Given the description of an element on the screen output the (x, y) to click on. 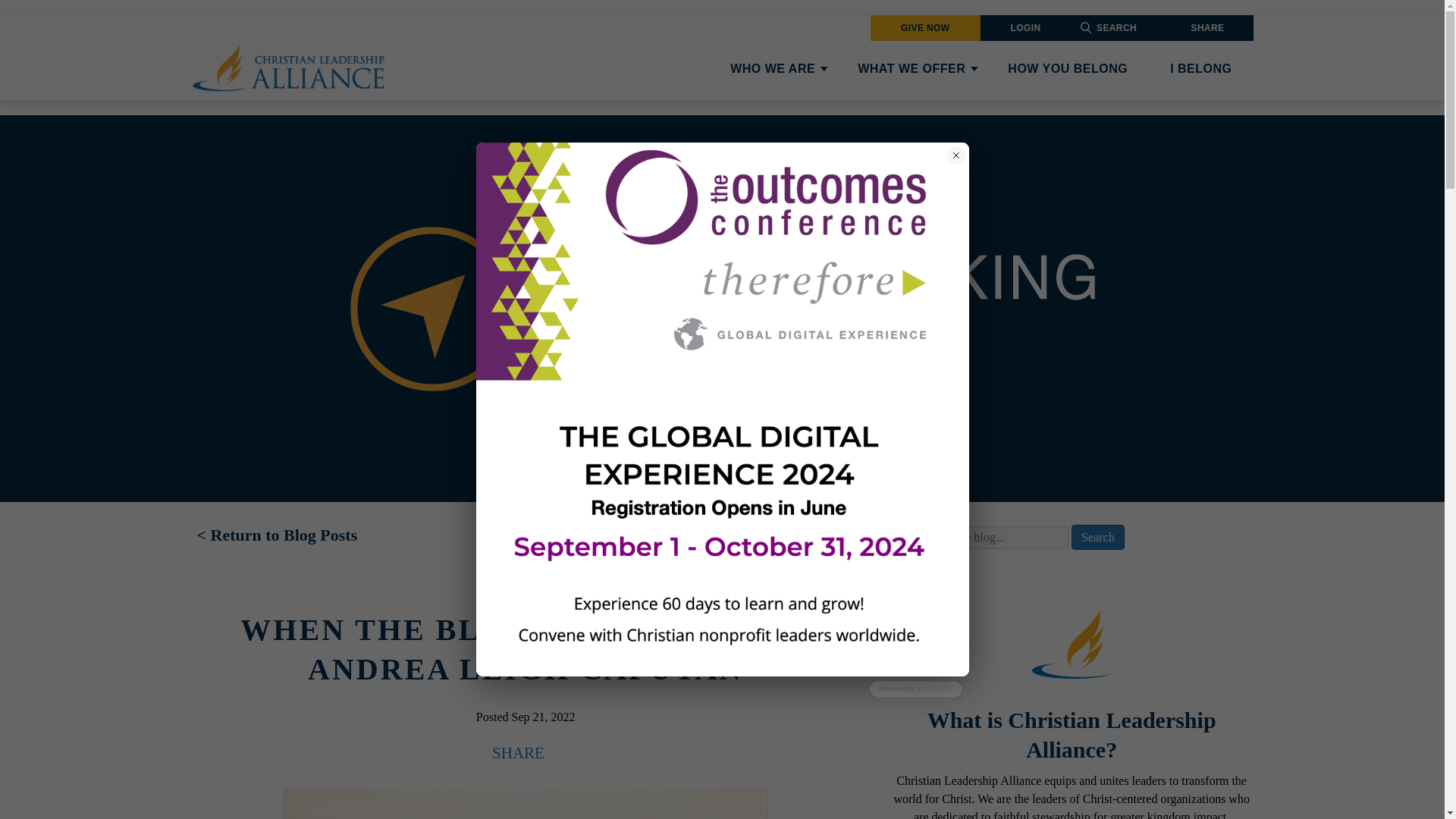
LOGIN (1025, 27)
HOW YOU BELONG (1067, 68)
cla-higher-thinking-blog-web-rev (722, 308)
SEARCH (1116, 27)
SHARE (1207, 27)
Search (1097, 536)
I BELONG (1200, 68)
logo-small (1071, 644)
GIVE NOW (924, 28)
Search (1097, 536)
WHO WE ARE (772, 68)
WHAT WE OFFER (911, 68)
